Given the description of an element on the screen output the (x, y) to click on. 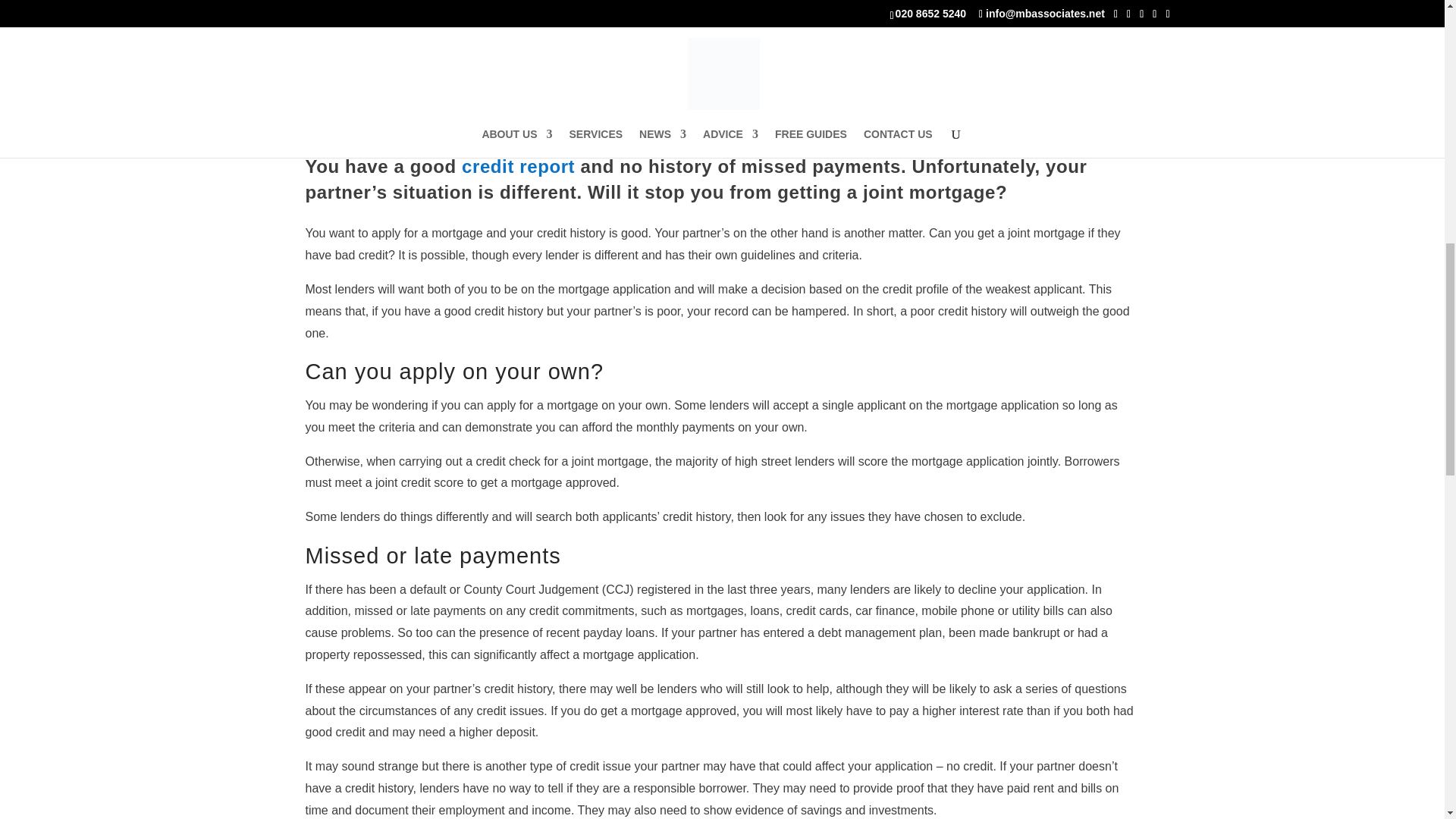
credit report (516, 166)
